Given the description of an element on the screen output the (x, y) to click on. 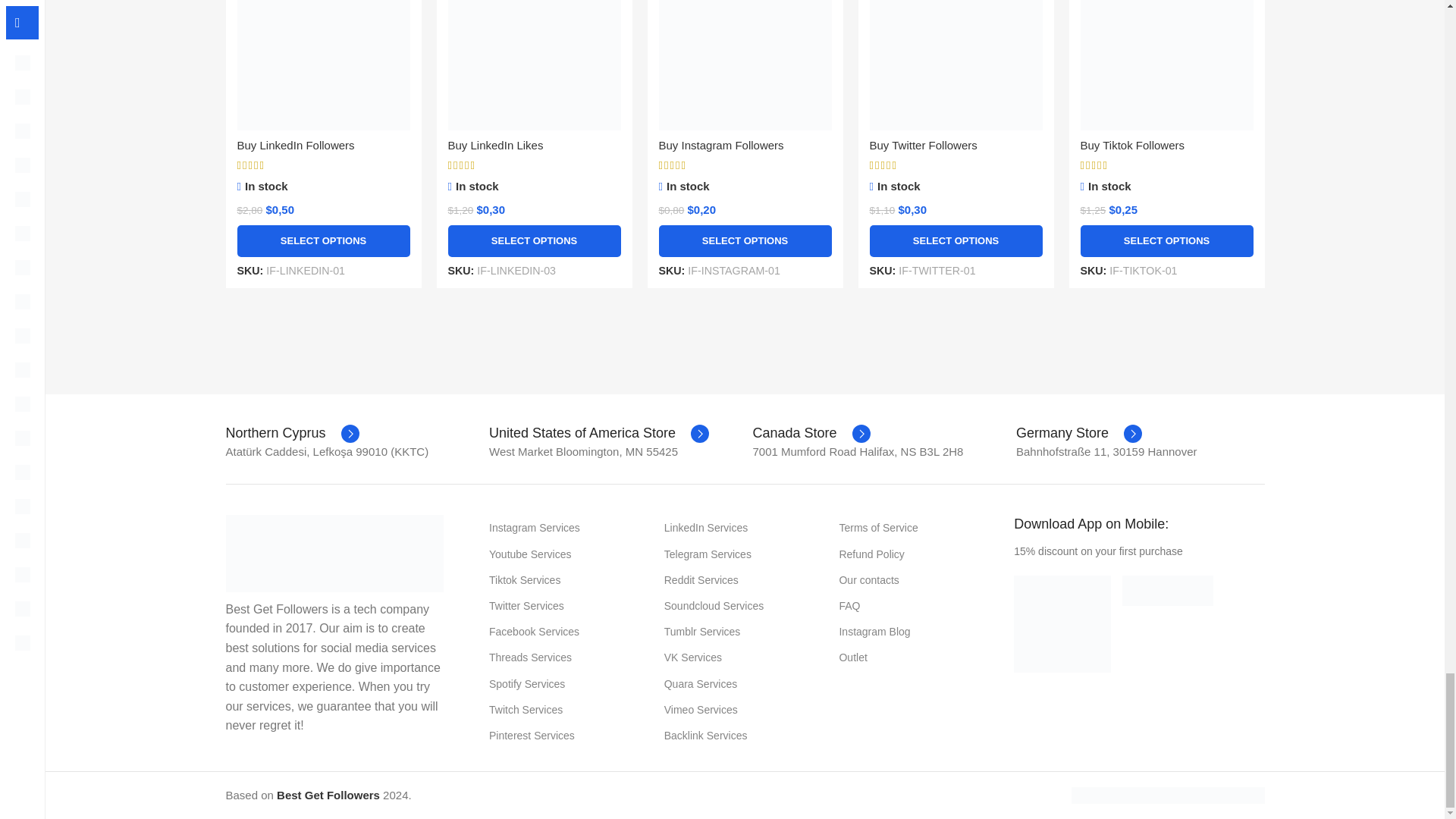
app-store (1167, 590)
google-play (1061, 623)
